Given the description of an element on the screen output the (x, y) to click on. 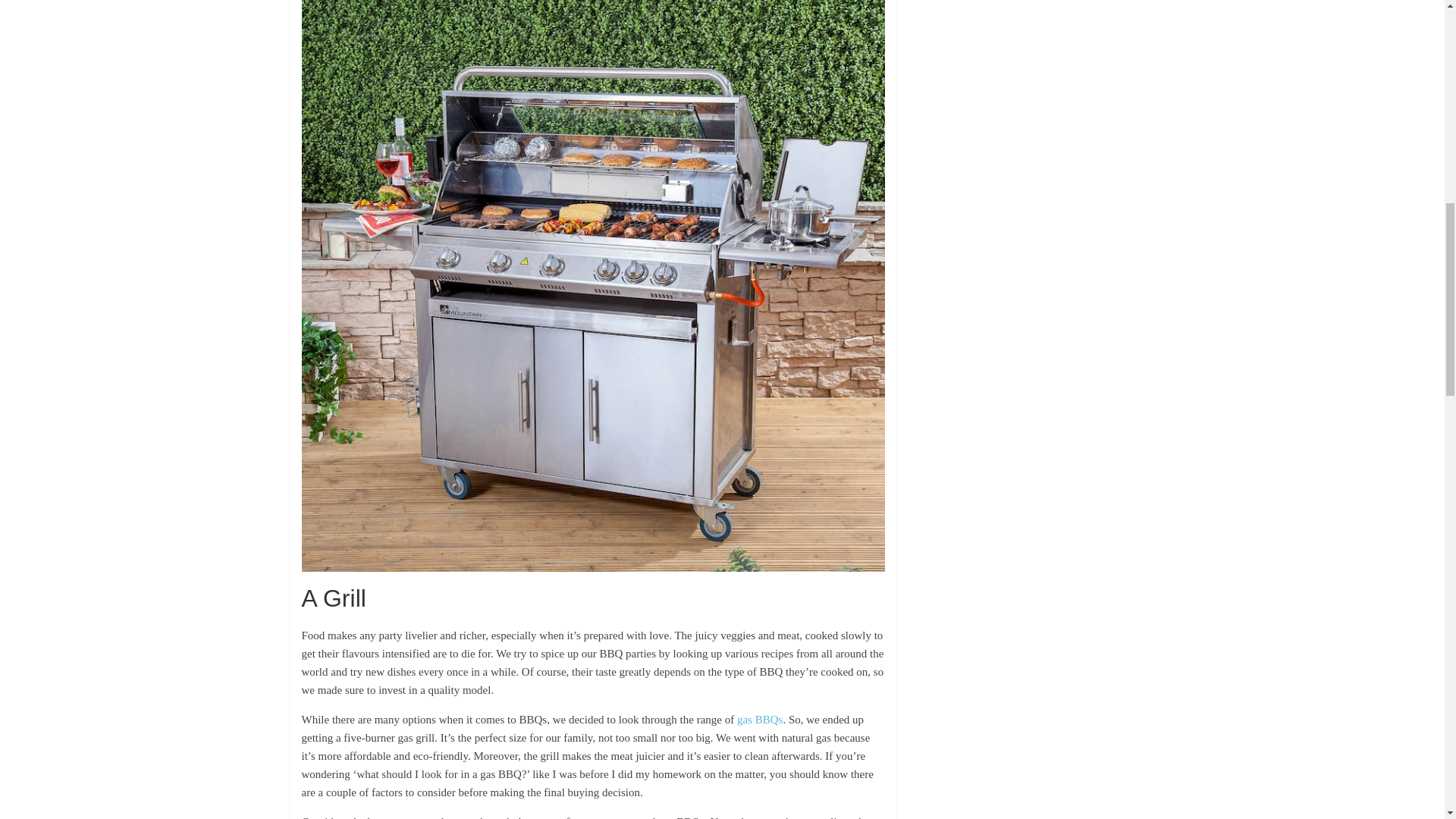
gas BBQs (759, 719)
